Given the description of an element on the screen output the (x, y) to click on. 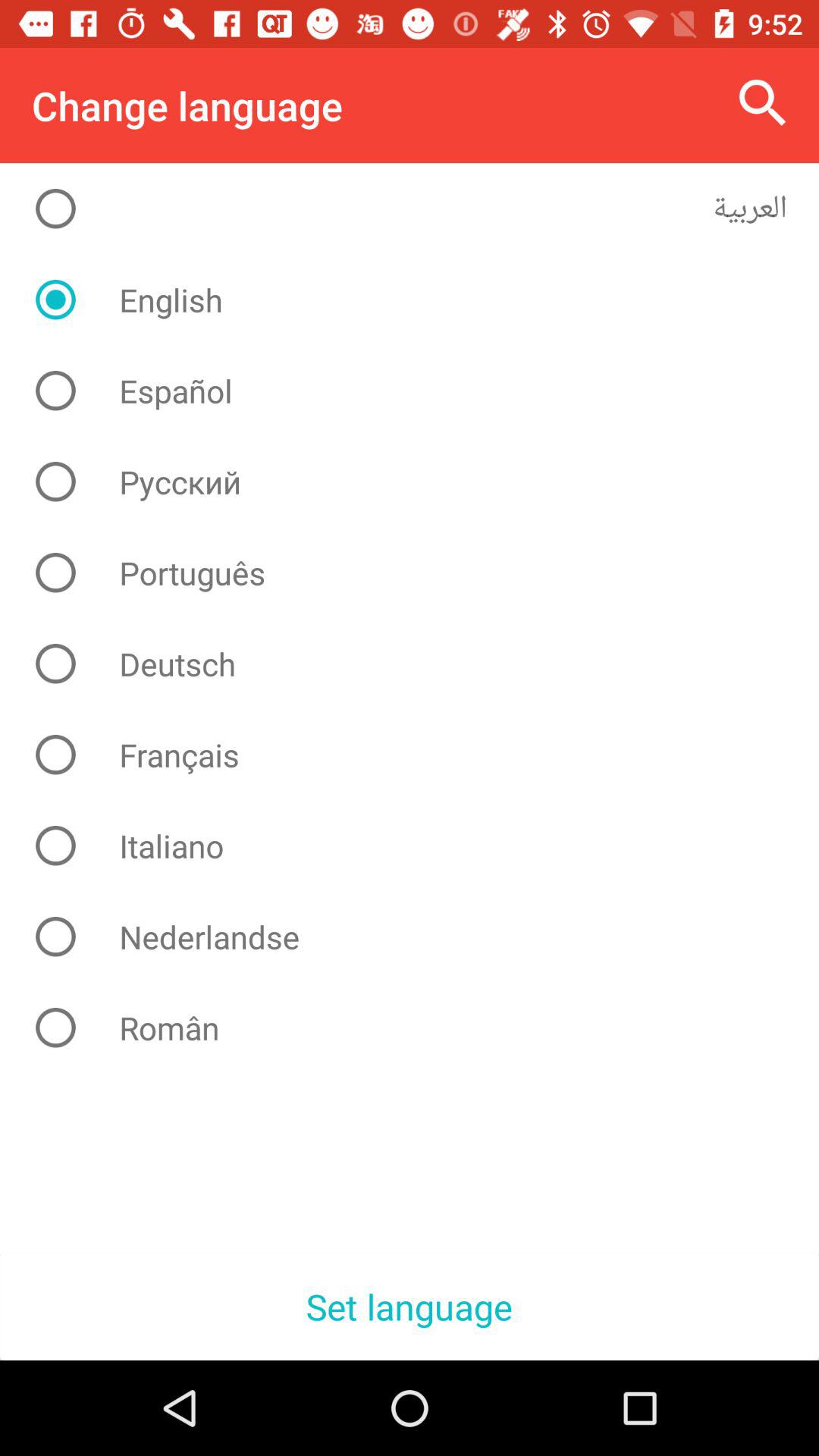
turn on item below the deutsch item (421, 754)
